Given the description of an element on the screen output the (x, y) to click on. 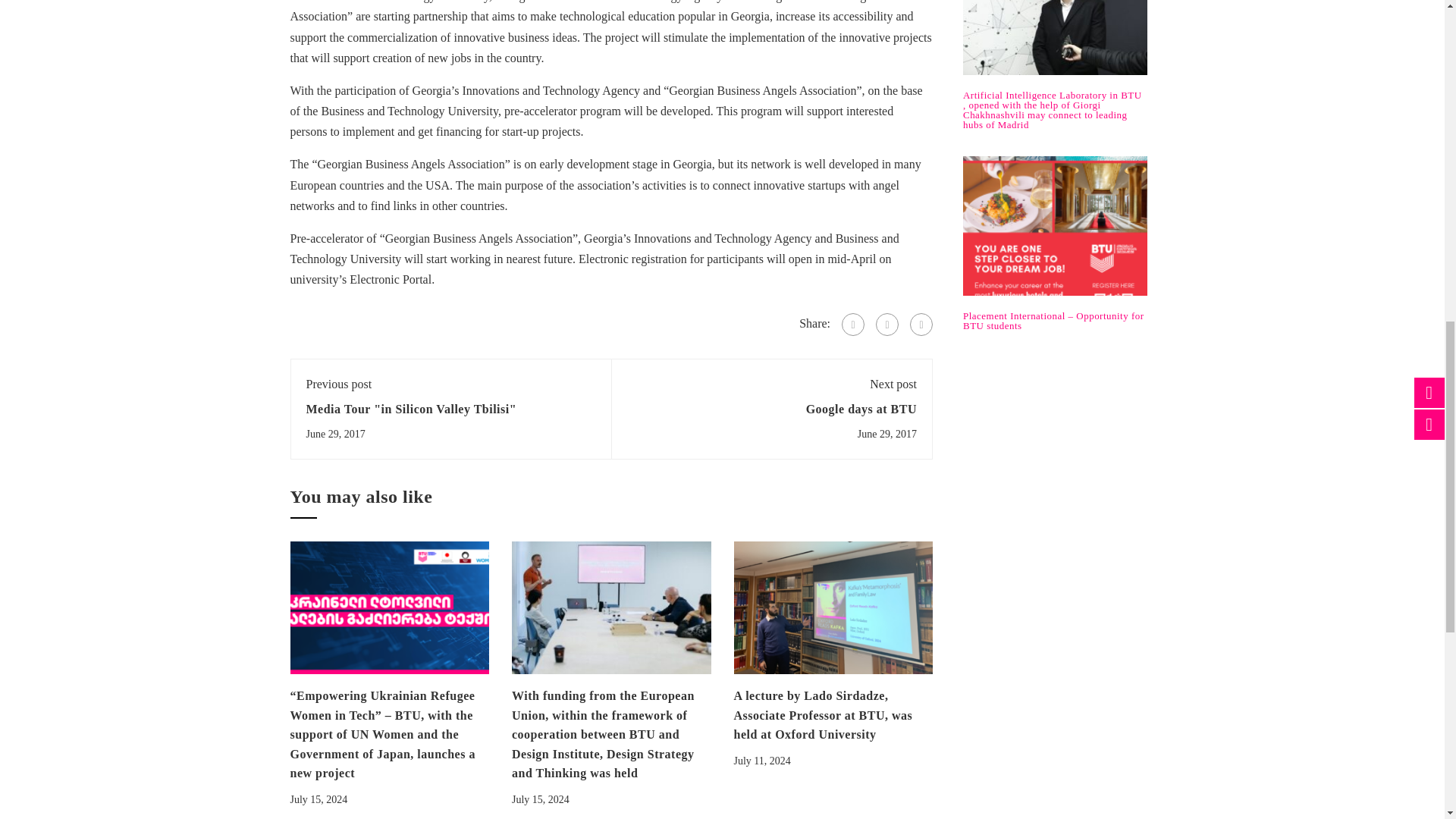
Pinterest (921, 323)
Facebook (852, 323)
Twitter (887, 323)
